Given the description of an element on the screen output the (x, y) to click on. 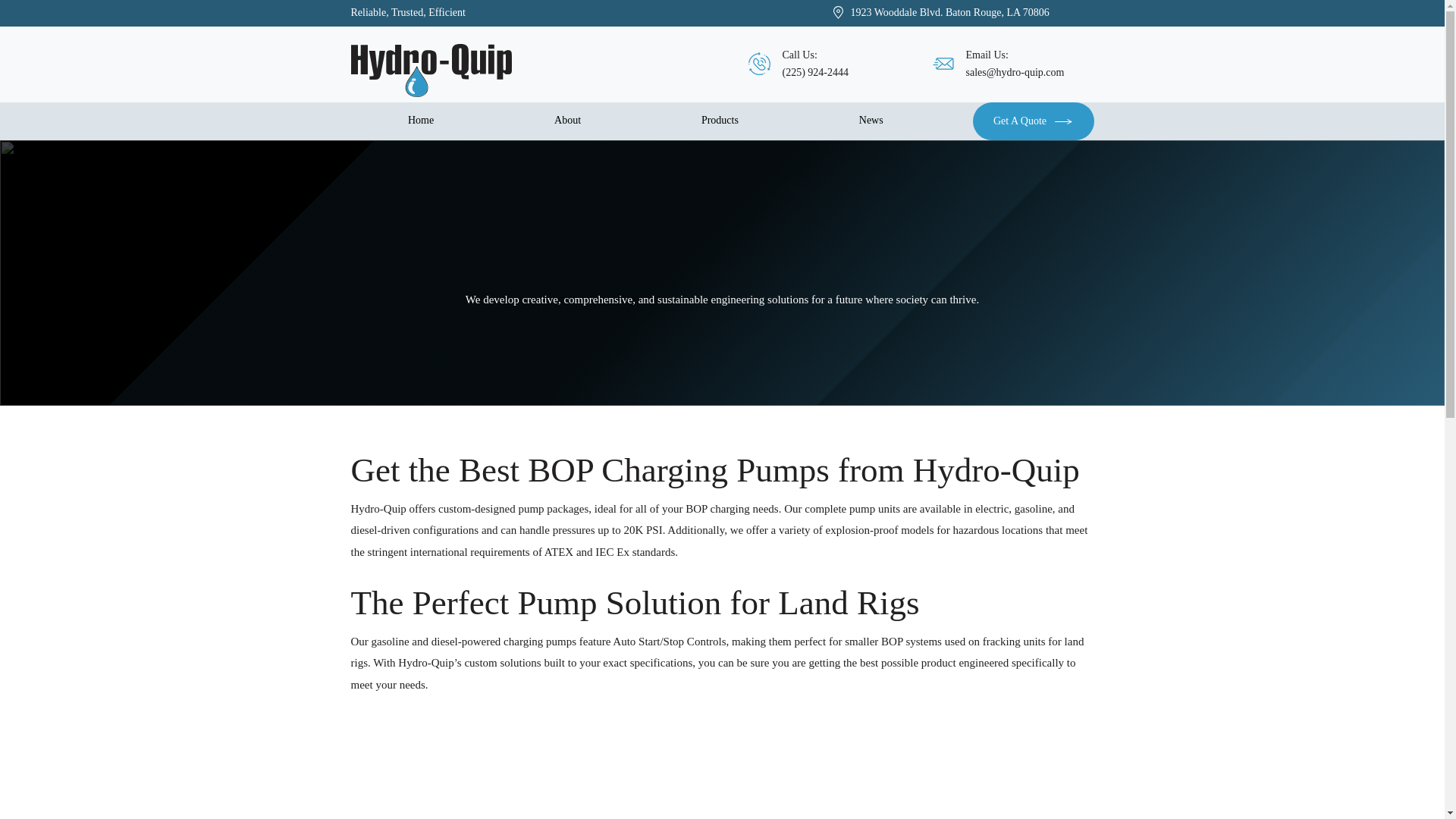
About (568, 120)
Get A Quote (1032, 121)
Products (718, 120)
News (871, 120)
1923 Wooddale Blvd. Baton Rouge, LA 70806 (949, 12)
Home (420, 120)
Contact (1019, 120)
